Given the description of an element on the screen output the (x, y) to click on. 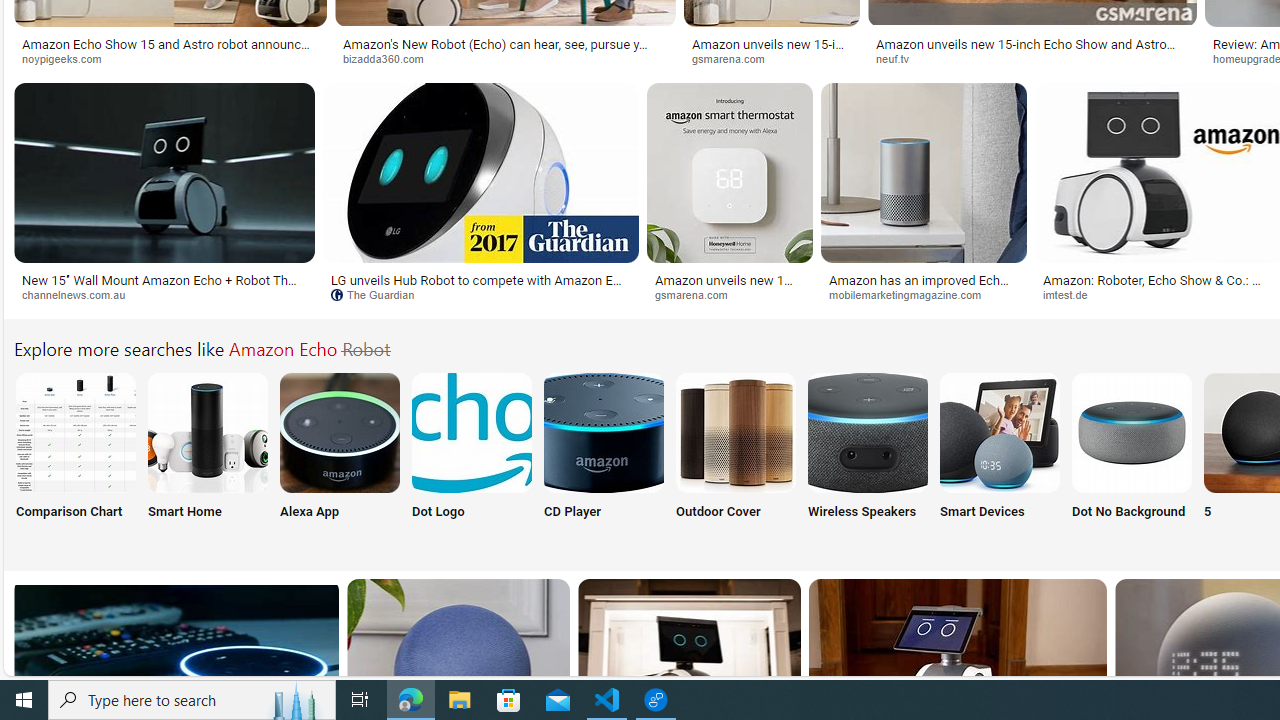
bizadda360.com (505, 58)
Alexa App. Amazon Echo (339, 432)
Dot No Background (1131, 457)
Comparison Chart (74, 457)
Amazon Echo Dot Logo (472, 432)
Amazon Echo with CD Player CD Player (604, 458)
Amazon Echo Smart Devices (999, 432)
Amazon Echo Dot Photo No Background (1131, 432)
neuf.tv (899, 57)
Smart Devices (999, 457)
noypigeeks.com (169, 58)
